Given the description of an element on the screen output the (x, y) to click on. 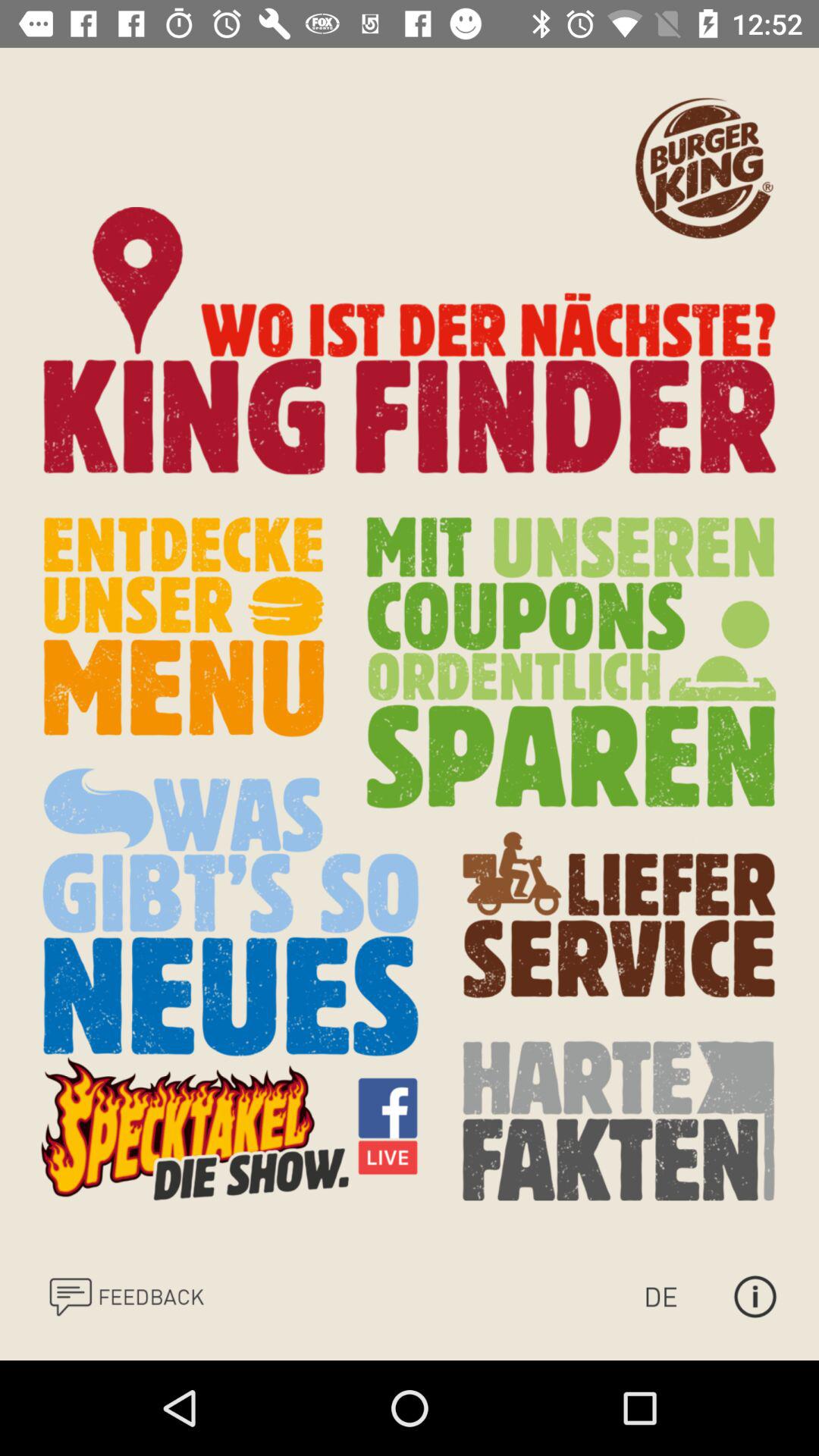
send your feedback (126, 1296)
